Given the description of an element on the screen output the (x, y) to click on. 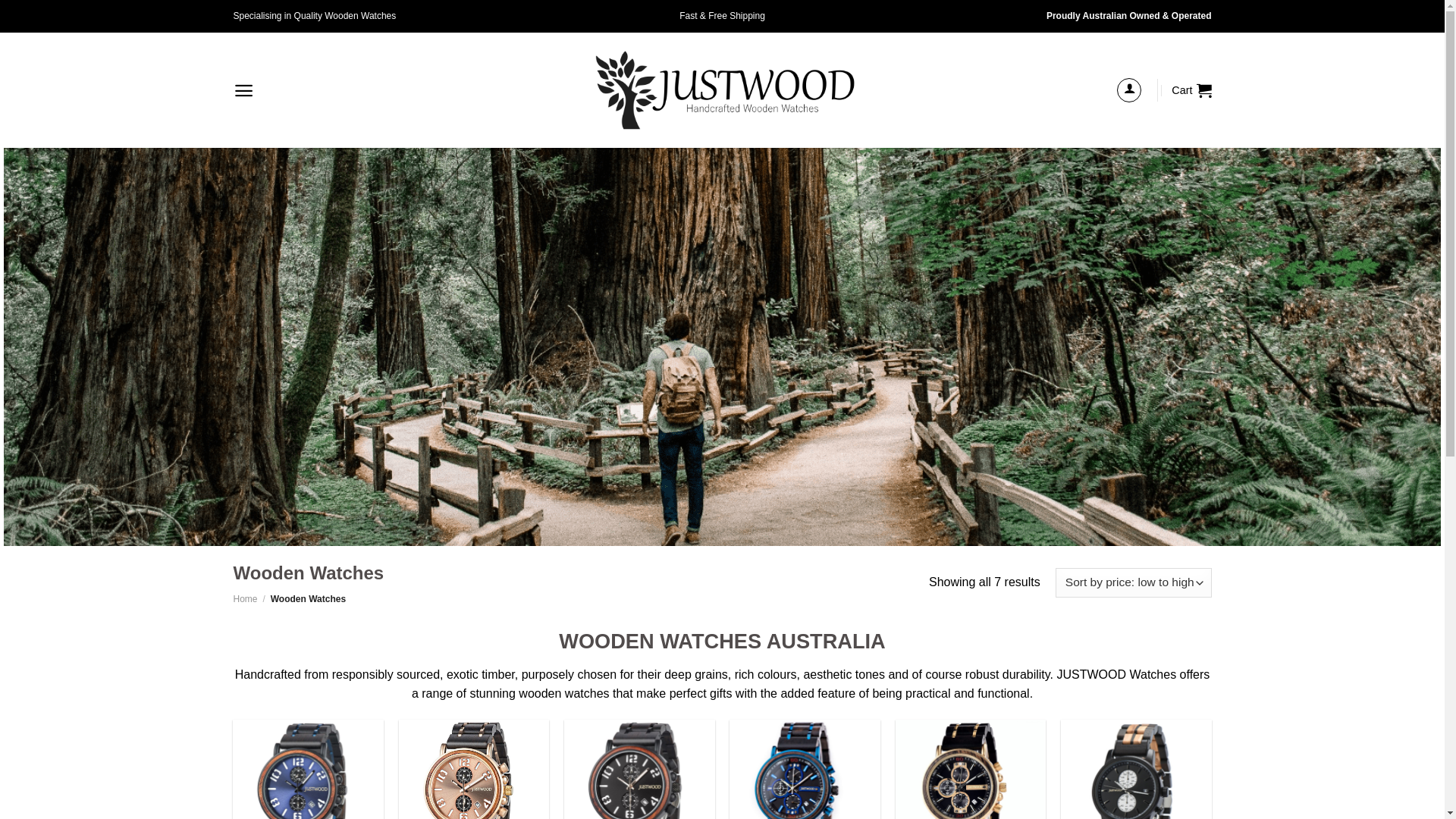
Home Element type: text (245, 598)
Skip to content Element type: text (0, 0)
Cart Element type: text (1191, 89)
JUSTWOOD Watches - Handcrafted Wooden Watches Element type: hover (722, 90)
